Given the description of an element on the screen output the (x, y) to click on. 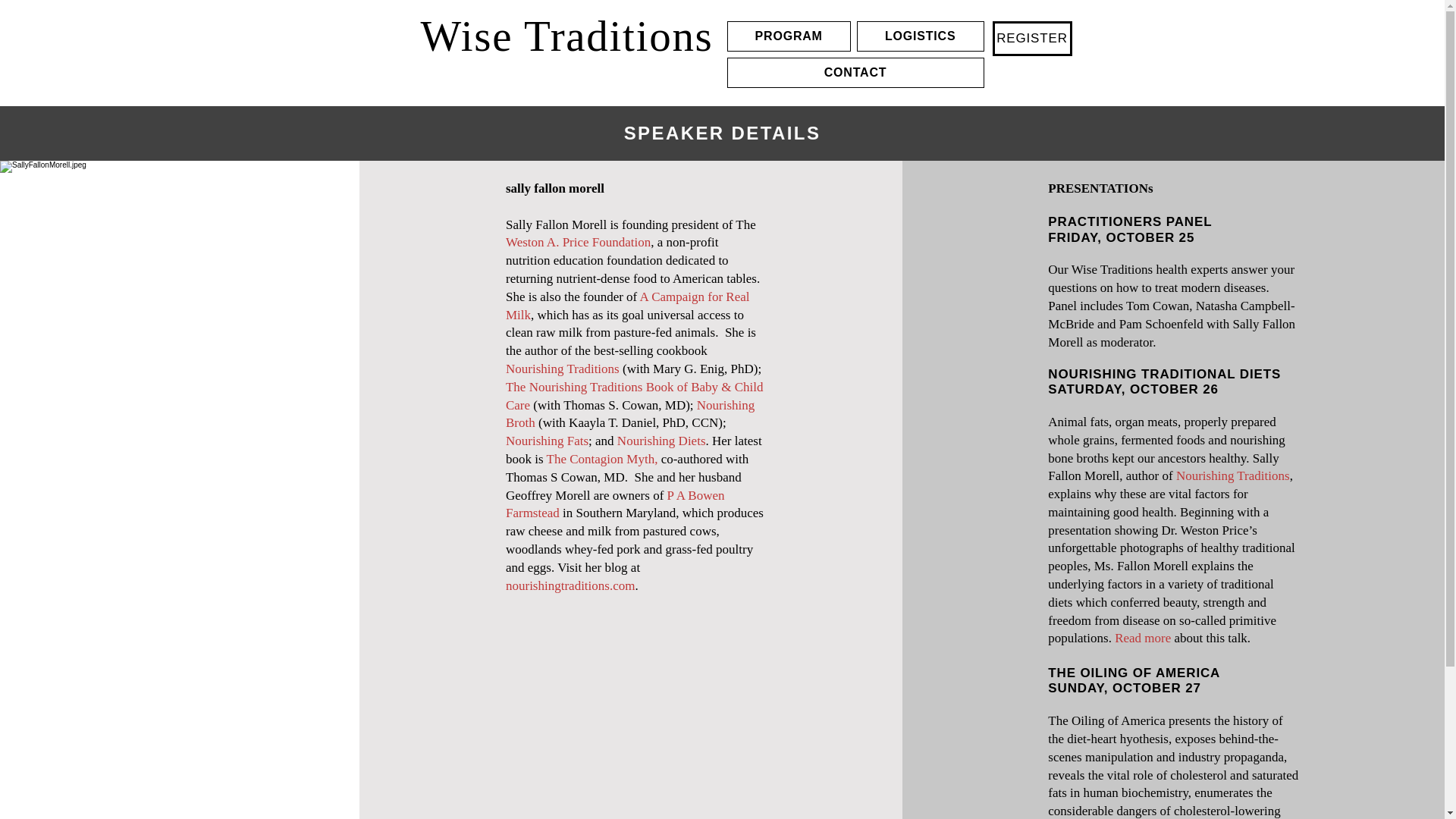
Nourishing Broth (629, 414)
nourishingtraditions.com (569, 585)
Nourishing Traditions (562, 368)
Read more (1142, 637)
CONTACT (855, 72)
Wise Traditions (566, 35)
Weston A. Price Foundation (577, 242)
Nourishing Fats (546, 440)
Nourishing Diets (661, 440)
The Contagion Myth (601, 459)
REGISTER (1031, 38)
Nourishing Traditions (1233, 475)
P A Bowen Farmstead (614, 504)
A Campaign for Real Milk (627, 305)
